Given the description of an element on the screen output the (x, y) to click on. 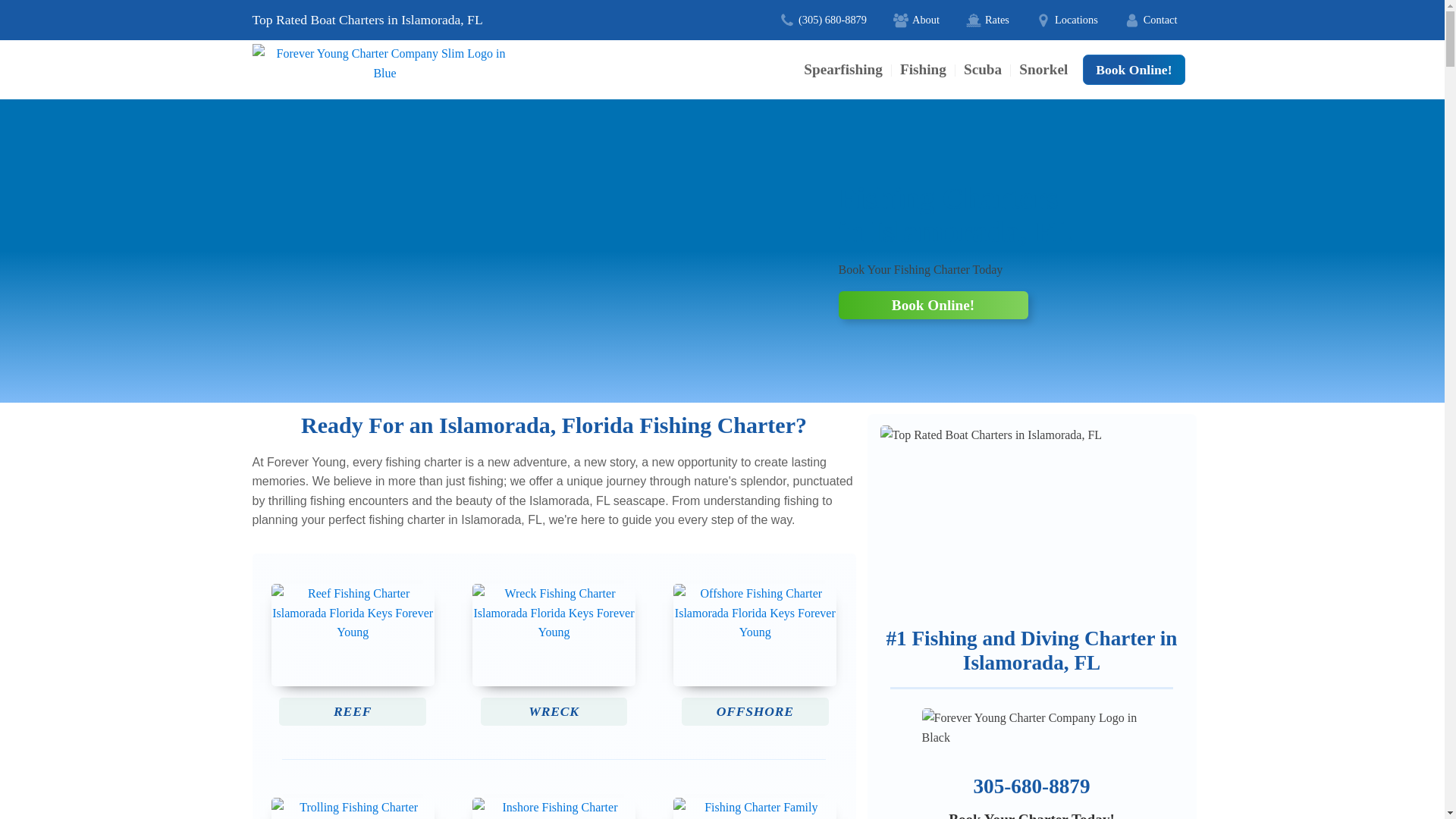
About (916, 19)
Snorkel (1043, 69)
Scuba (982, 69)
REEF (351, 650)
Fishing (922, 69)
Book Online! (1134, 69)
Book Online! (932, 305)
Spearfishing (842, 69)
Contact (1150, 19)
Locations (1067, 19)
